Given the description of an element on the screen output the (x, y) to click on. 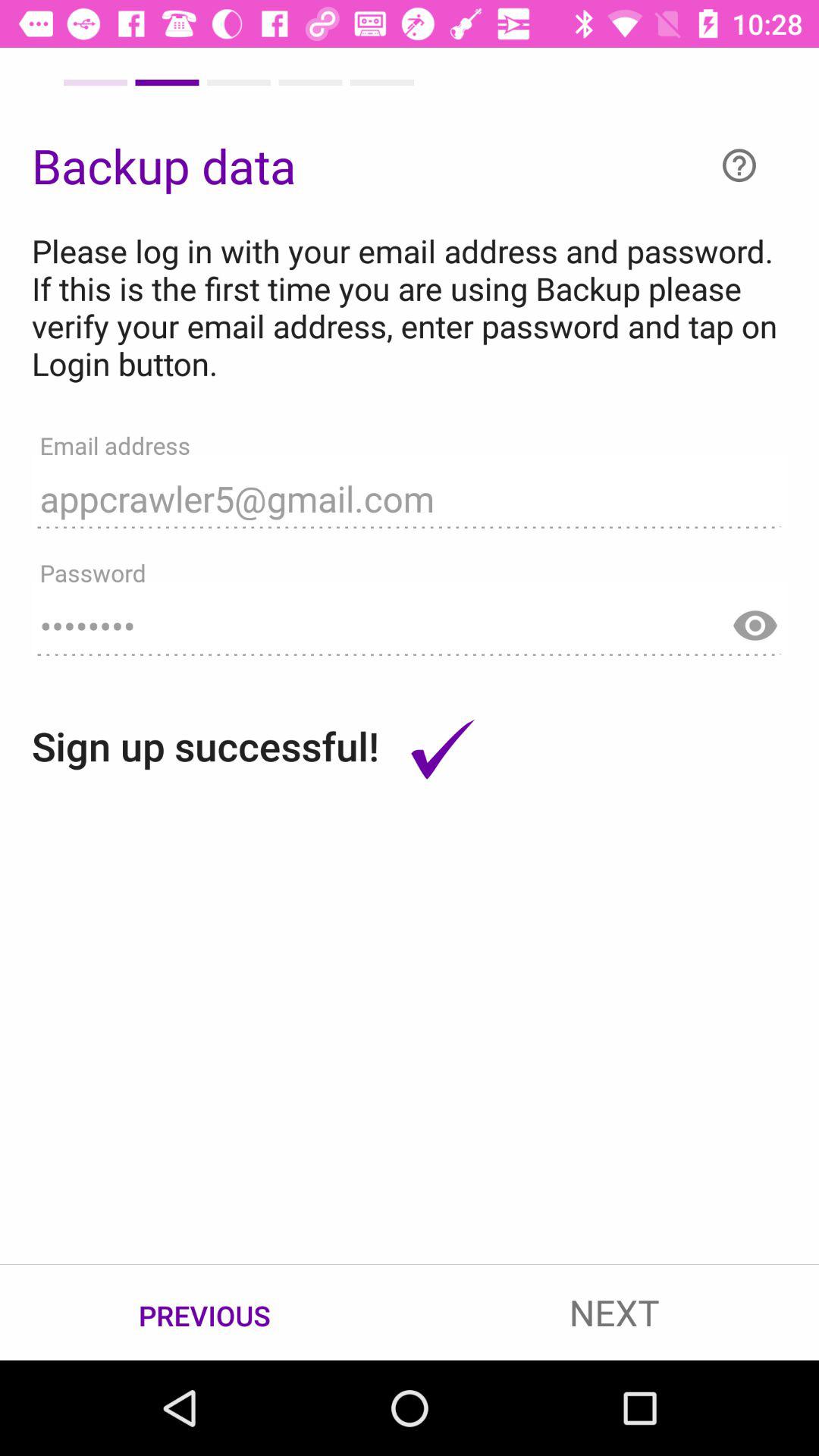
tap item to the right of backup data icon (739, 165)
